Given the description of an element on the screen output the (x, y) to click on. 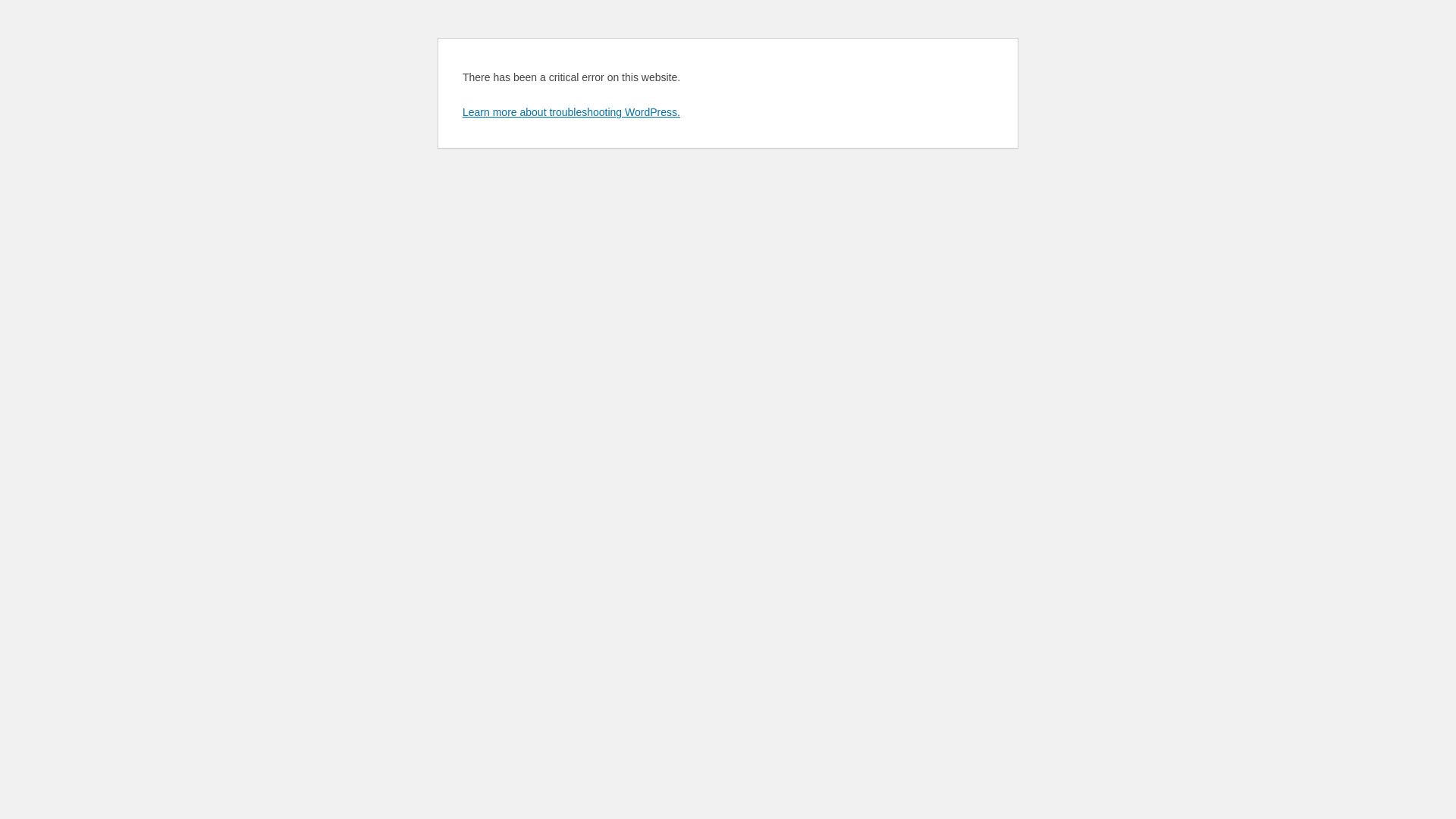
Learn more about troubleshooting WordPress. Element type: text (571, 112)
